Given the description of an element on the screen output the (x, y) to click on. 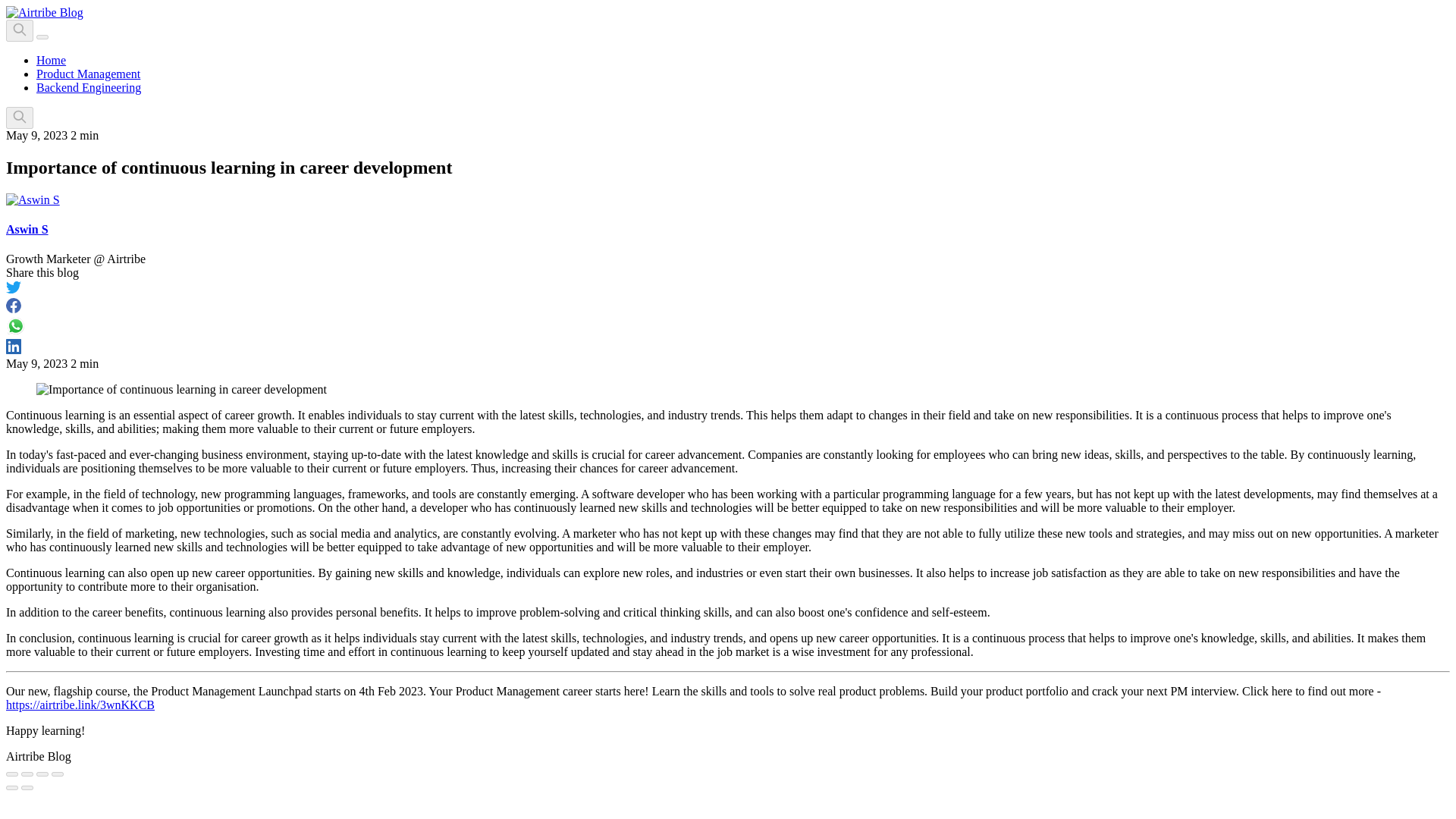
Backend Engineering (88, 87)
Aswin S (26, 228)
Share (27, 774)
Toggle fullscreen (42, 774)
Product Management (87, 73)
Home (50, 60)
